Given the description of an element on the screen output the (x, y) to click on. 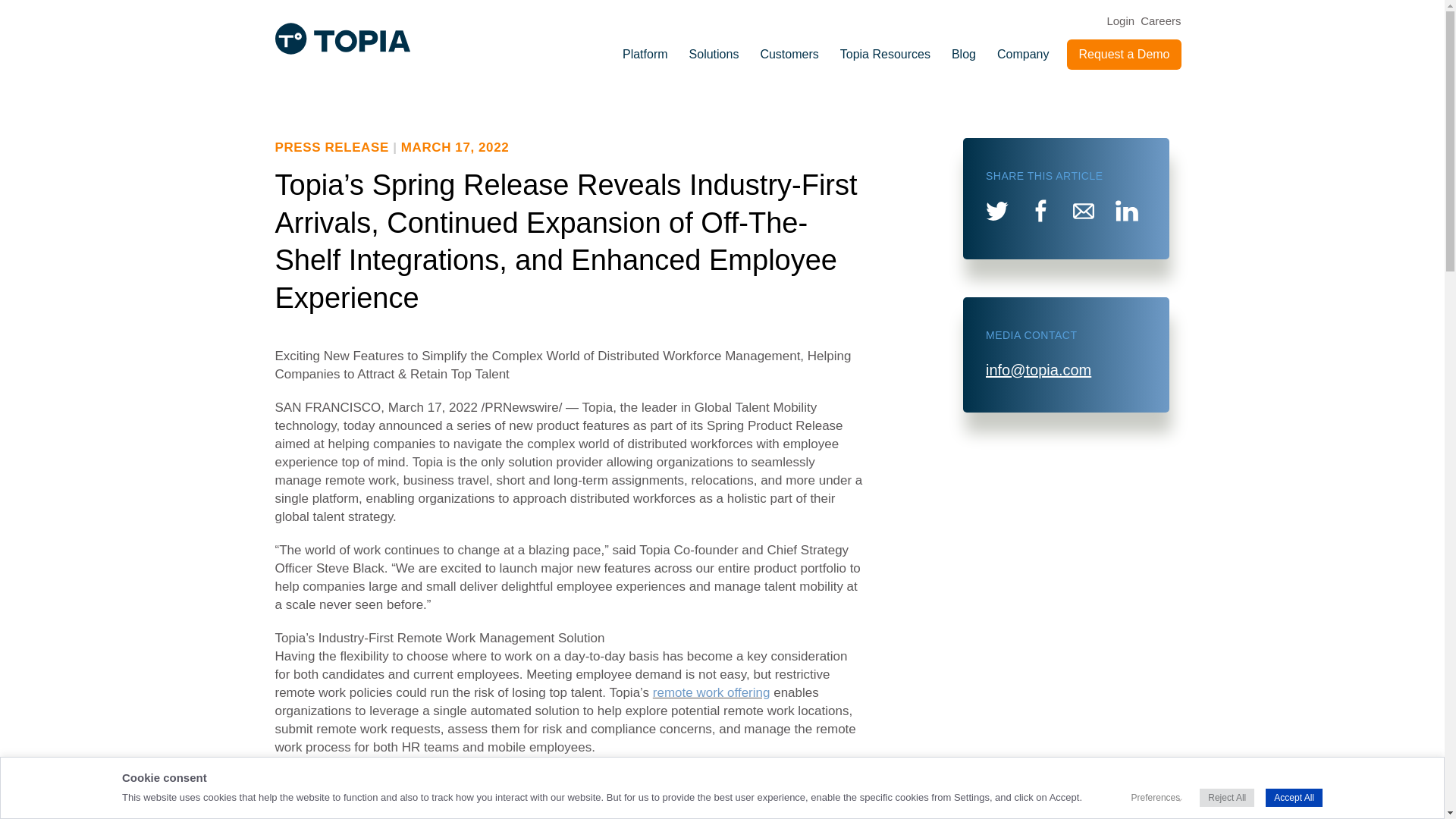
Solutions (713, 54)
Customers (788, 54)
Careers (1160, 20)
Blog (963, 54)
Company (1023, 54)
Platform (644, 54)
Login (1120, 20)
Topia Resources (884, 54)
